Given the description of an element on the screen output the (x, y) to click on. 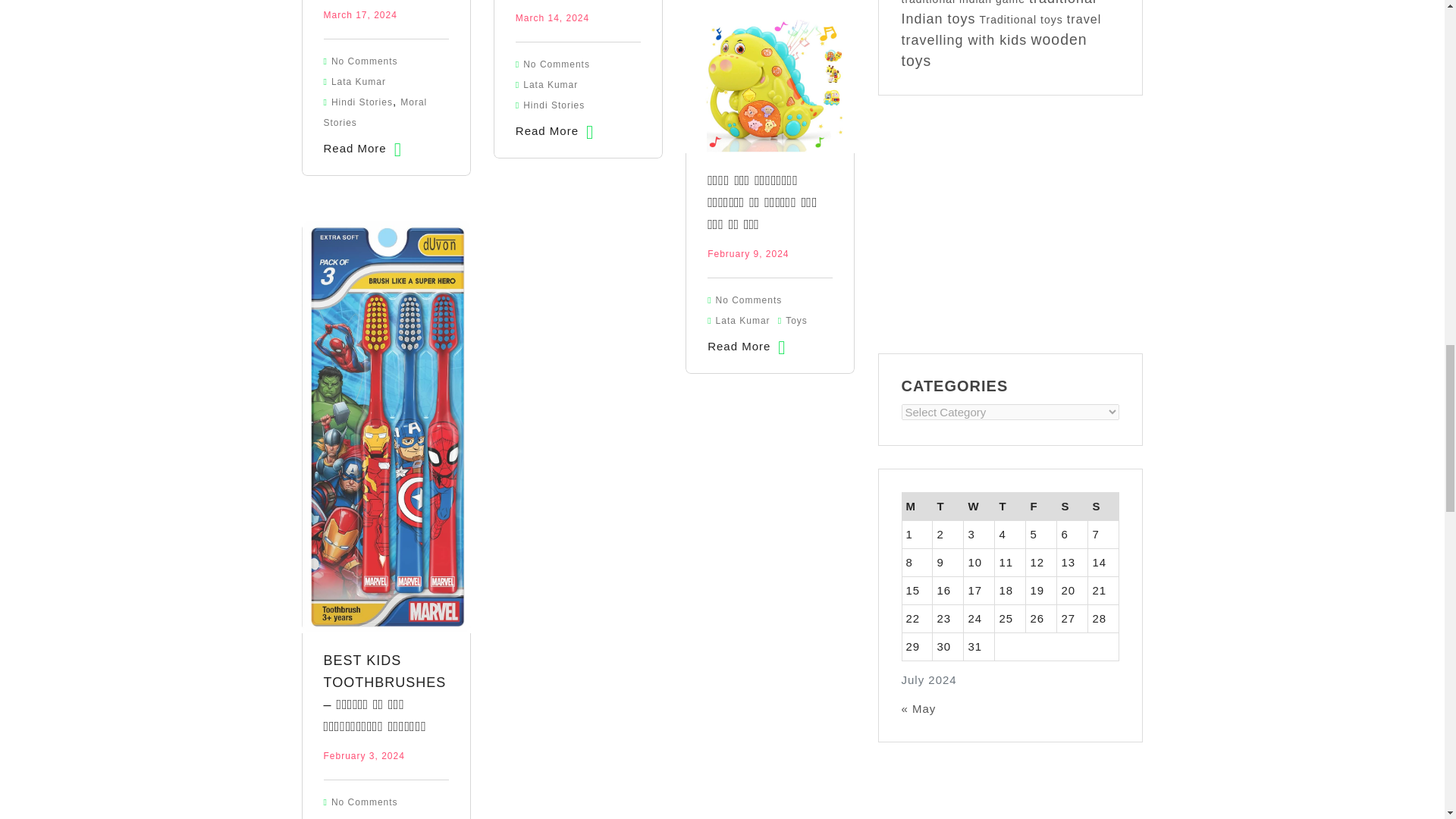
Advertisement (1009, 791)
Thursday (1010, 506)
Sunday (1103, 506)
Monday (917, 506)
Advertisement (1009, 223)
Wednesday (978, 506)
Saturday (1072, 506)
Friday (1041, 506)
Tuesday (948, 506)
